Given the description of an element on the screen output the (x, y) to click on. 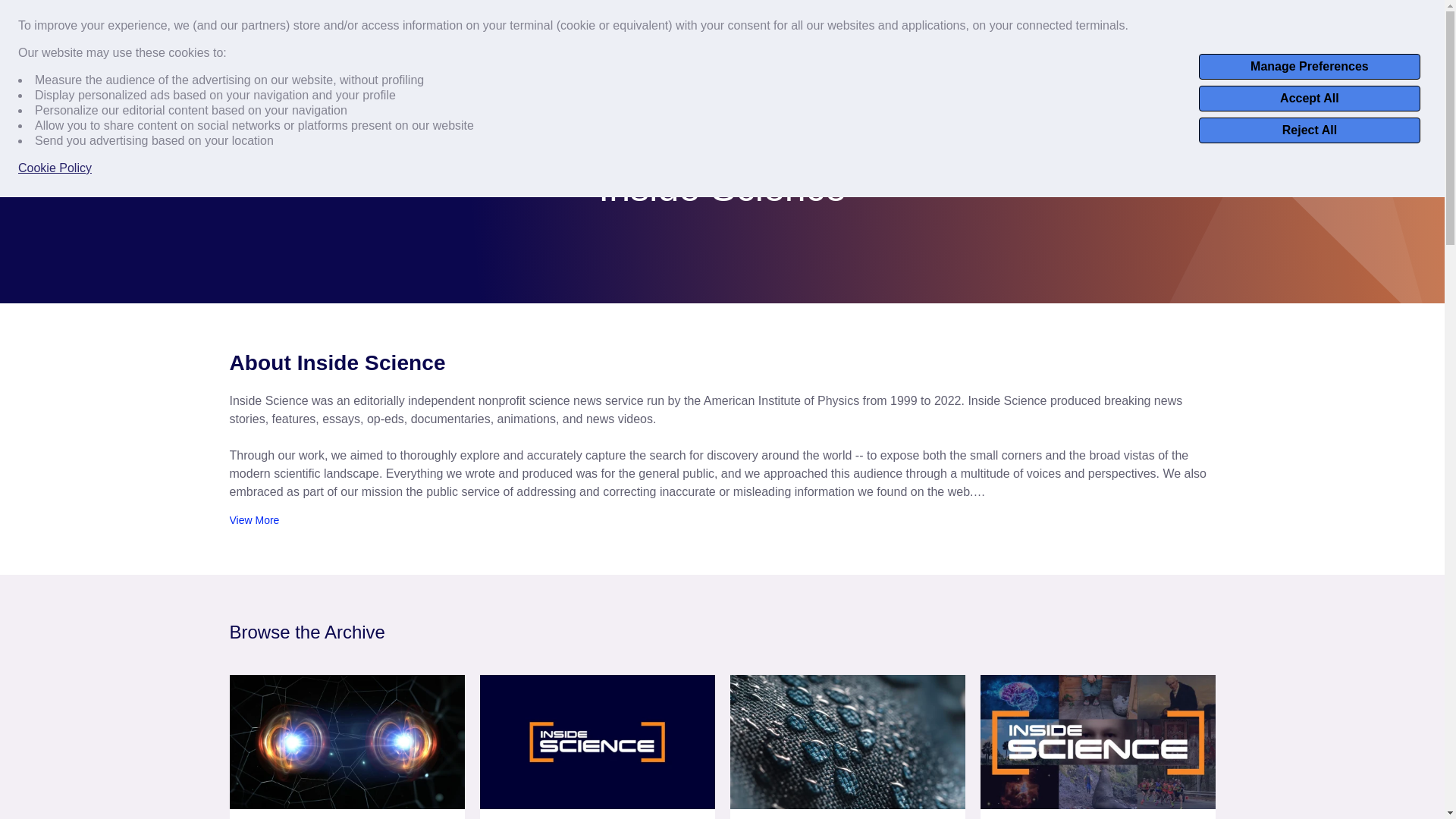
Reject All (1309, 130)
Federation (471, 71)
Giving (1404, 19)
Accept All (1309, 98)
Manage Preferences (1309, 66)
Newsletters (1339, 19)
Cookie Policy (54, 168)
Events (1271, 19)
